Given the description of an element on the screen output the (x, y) to click on. 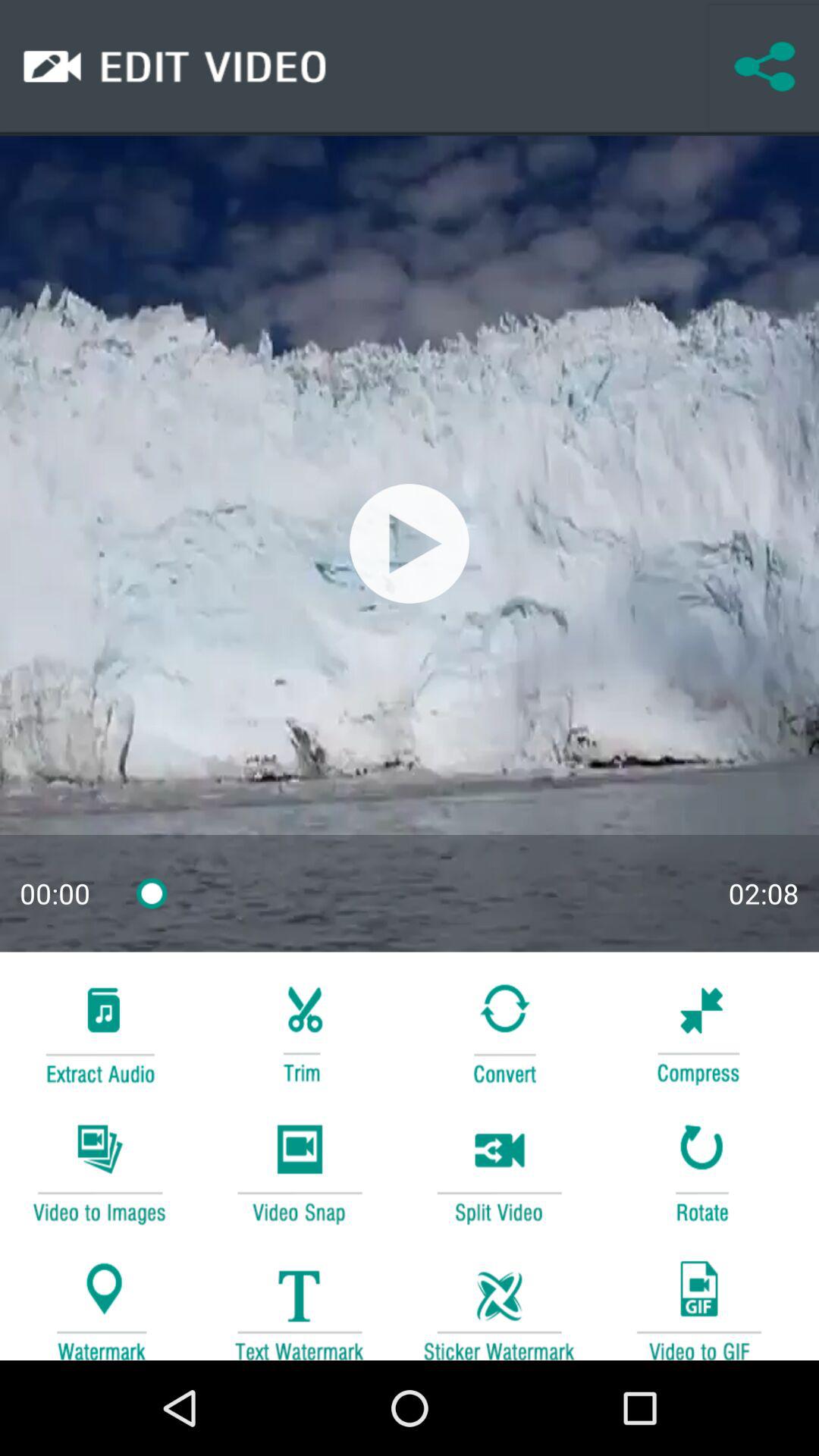
split video into multiple files (498, 1171)
